Given the description of an element on the screen output the (x, y) to click on. 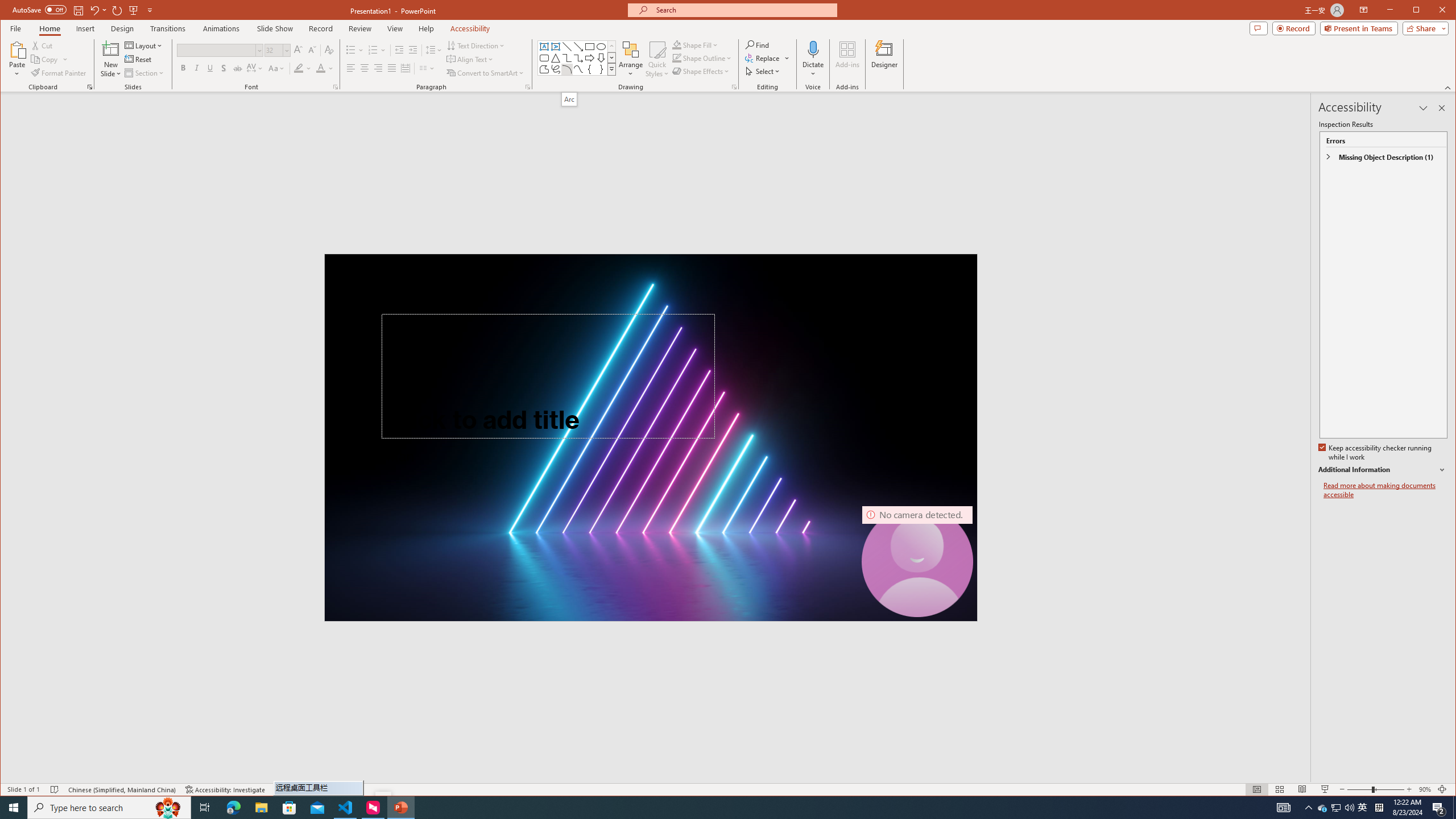
Camera 7, No camera detected. (917, 561)
